Given the description of an element on the screen output the (x, y) to click on. 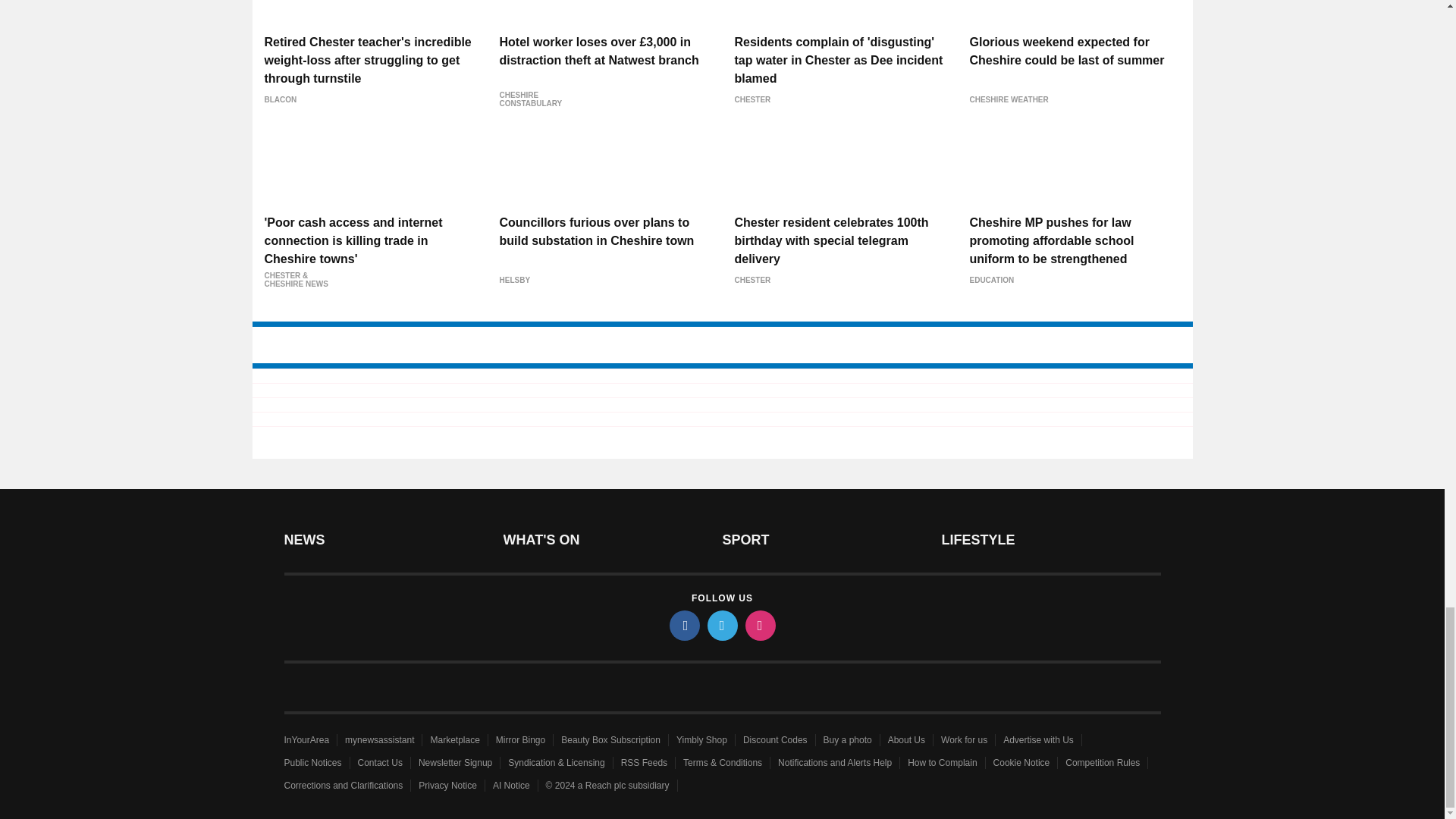
instagram (759, 625)
facebook (683, 625)
twitter (721, 625)
